Given the description of an element on the screen output the (x, y) to click on. 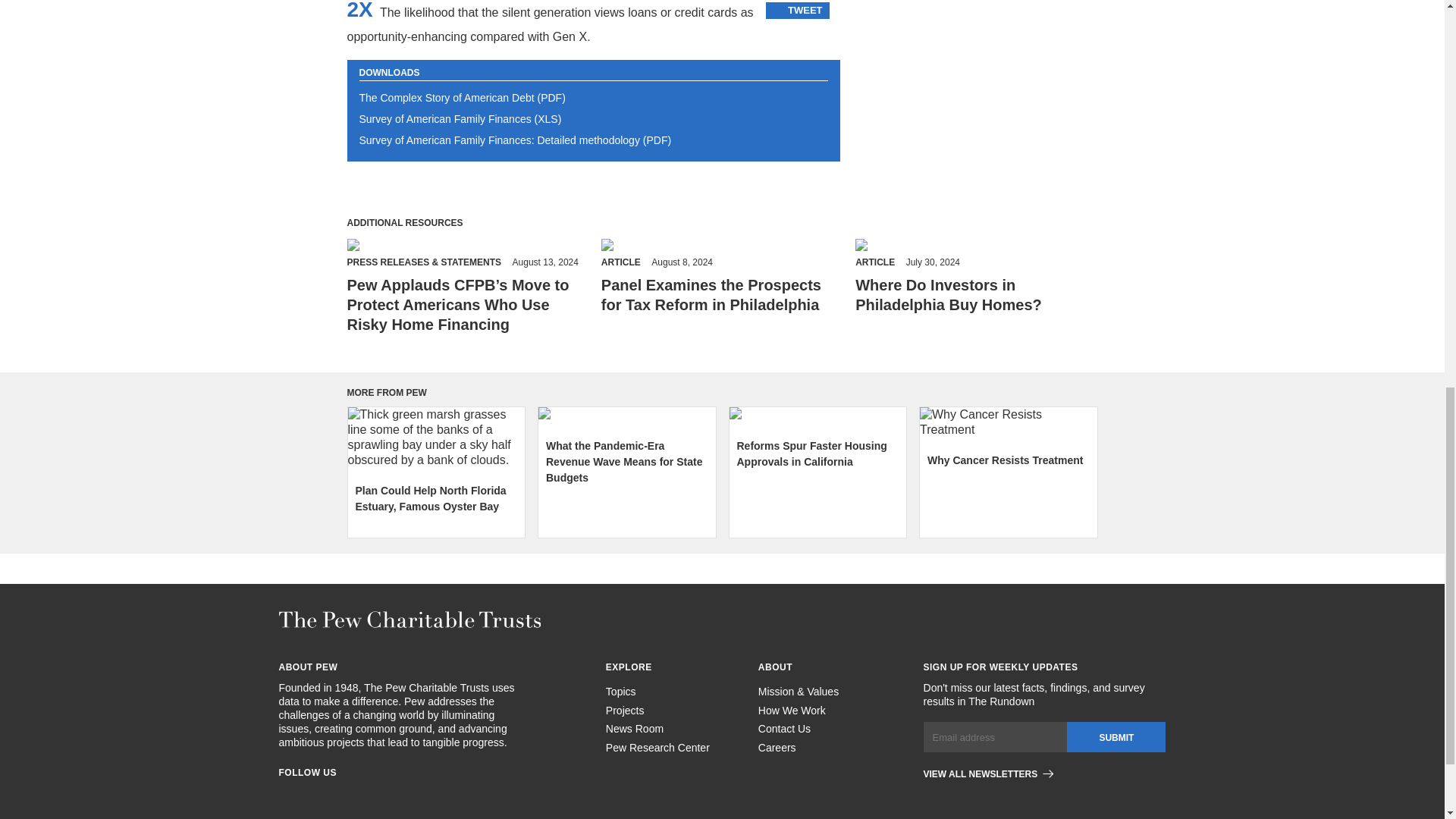
LinkedIn (340, 796)
Instagram (312, 796)
YouTube (421, 796)
Facebook (285, 796)
RSS (394, 796)
